Given the description of an element on the screen output the (x, y) to click on. 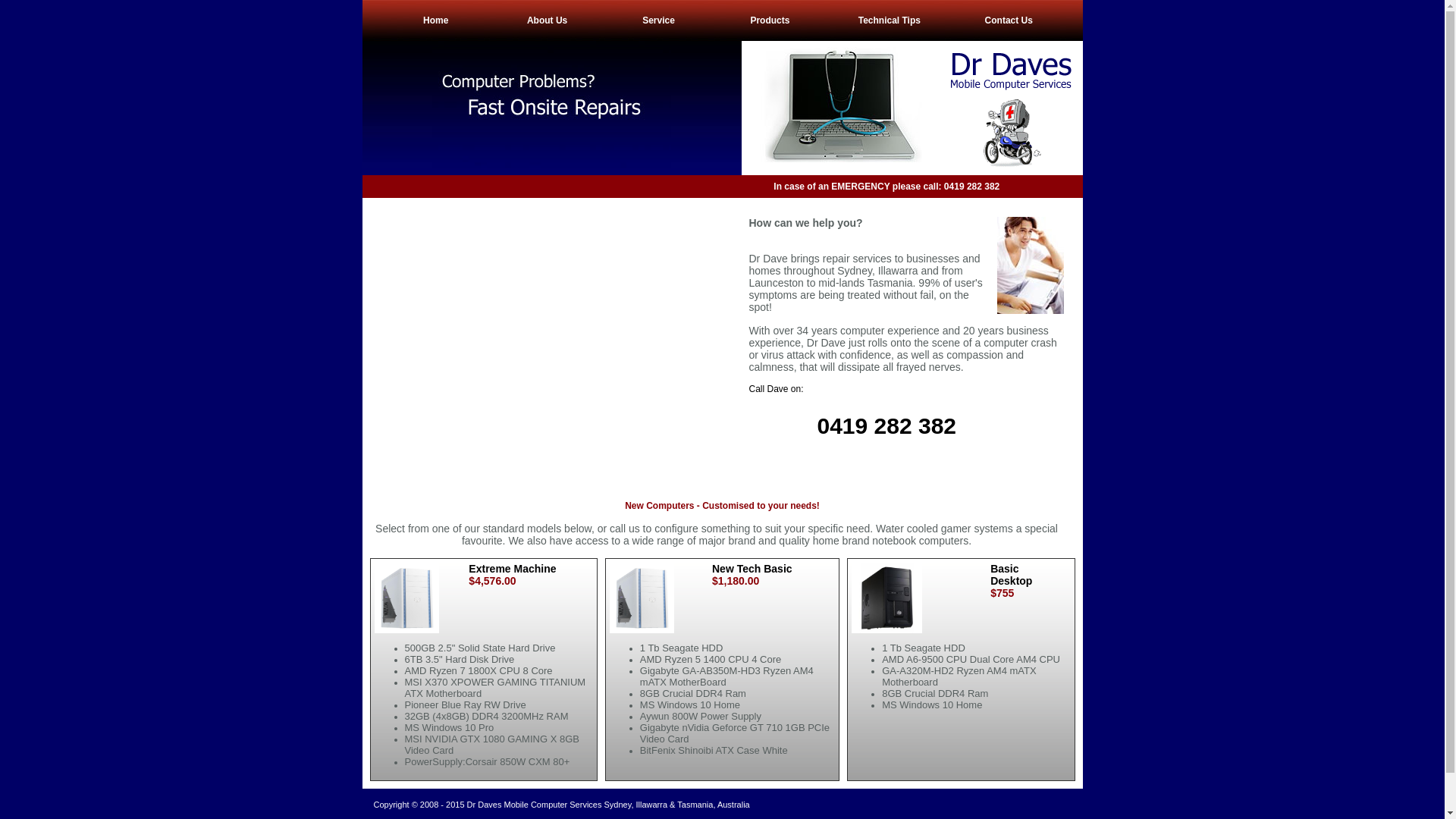
Service Element type: text (658, 20)
Products Element type: text (769, 20)
Technical Tips Element type: text (889, 20)
Home Element type: text (435, 20)
Contact Us Element type: text (1008, 20)
About Us Element type: text (547, 20)
